Given the description of an element on the screen output the (x, y) to click on. 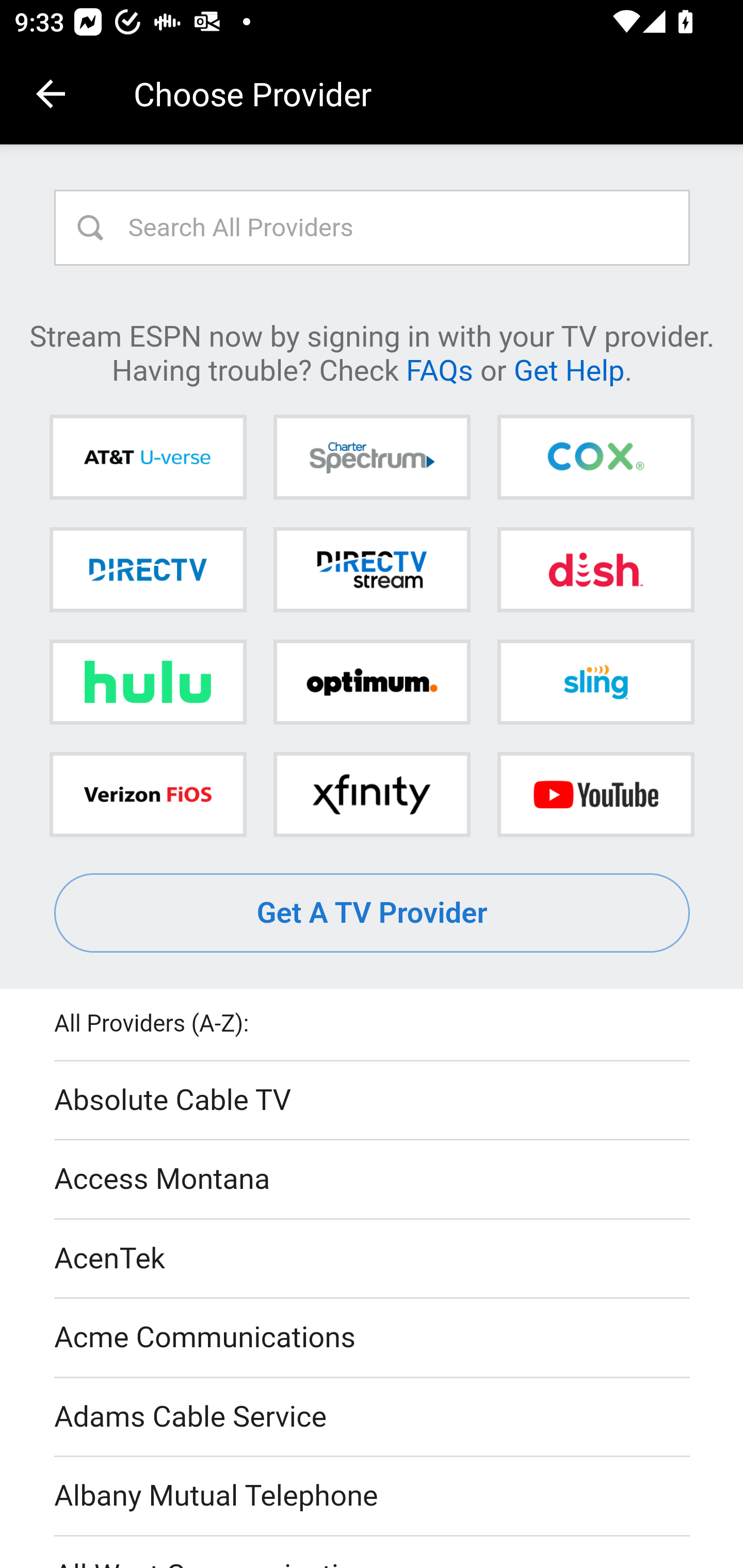
Navigate up (50, 93)
FAQs (438, 369)
Get Help (569, 369)
AT&T U-verse (147, 457)
Charter Spectrum (371, 457)
Cox (595, 457)
DIRECTV (147, 568)
DIRECTV STREAM (371, 568)
DISH (595, 568)
Hulu (147, 681)
Optimum (371, 681)
Sling TV (595, 681)
Verizon FiOS (147, 793)
Xfinity (371, 793)
YouTube TV (595, 793)
Get A TV Provider (372, 912)
Absolute Cable TV (372, 1100)
Access Montana (372, 1178)
AcenTek (372, 1258)
Acme Communications (372, 1338)
Adams Cable Service (372, 1417)
Albany Mutual Telephone (372, 1497)
